Given the description of an element on the screen output the (x, y) to click on. 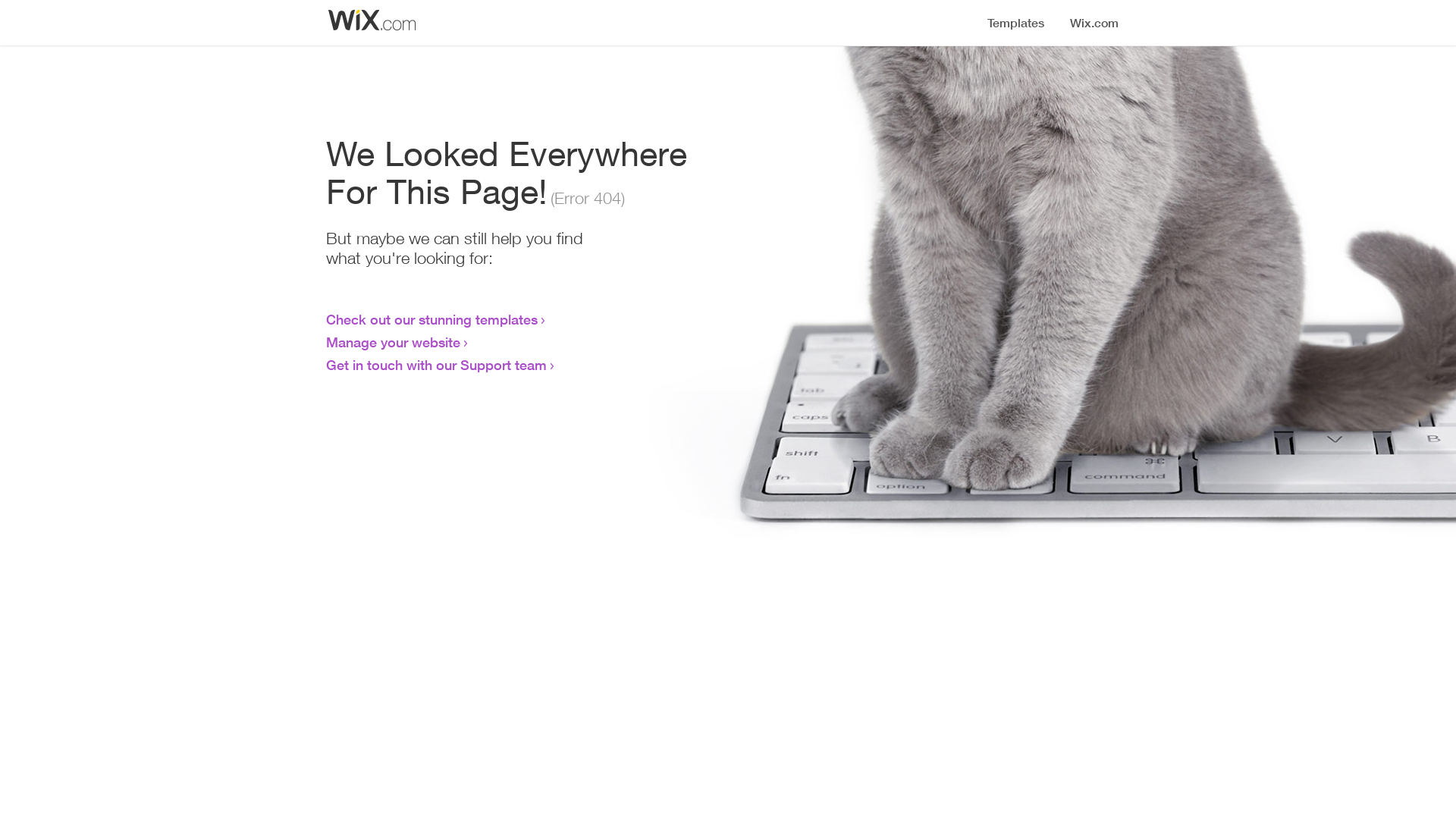
Manage your website Element type: text (393, 341)
Get in touch with our Support team Element type: text (436, 364)
Check out our stunning templates Element type: text (431, 318)
